Given the description of an element on the screen output the (x, y) to click on. 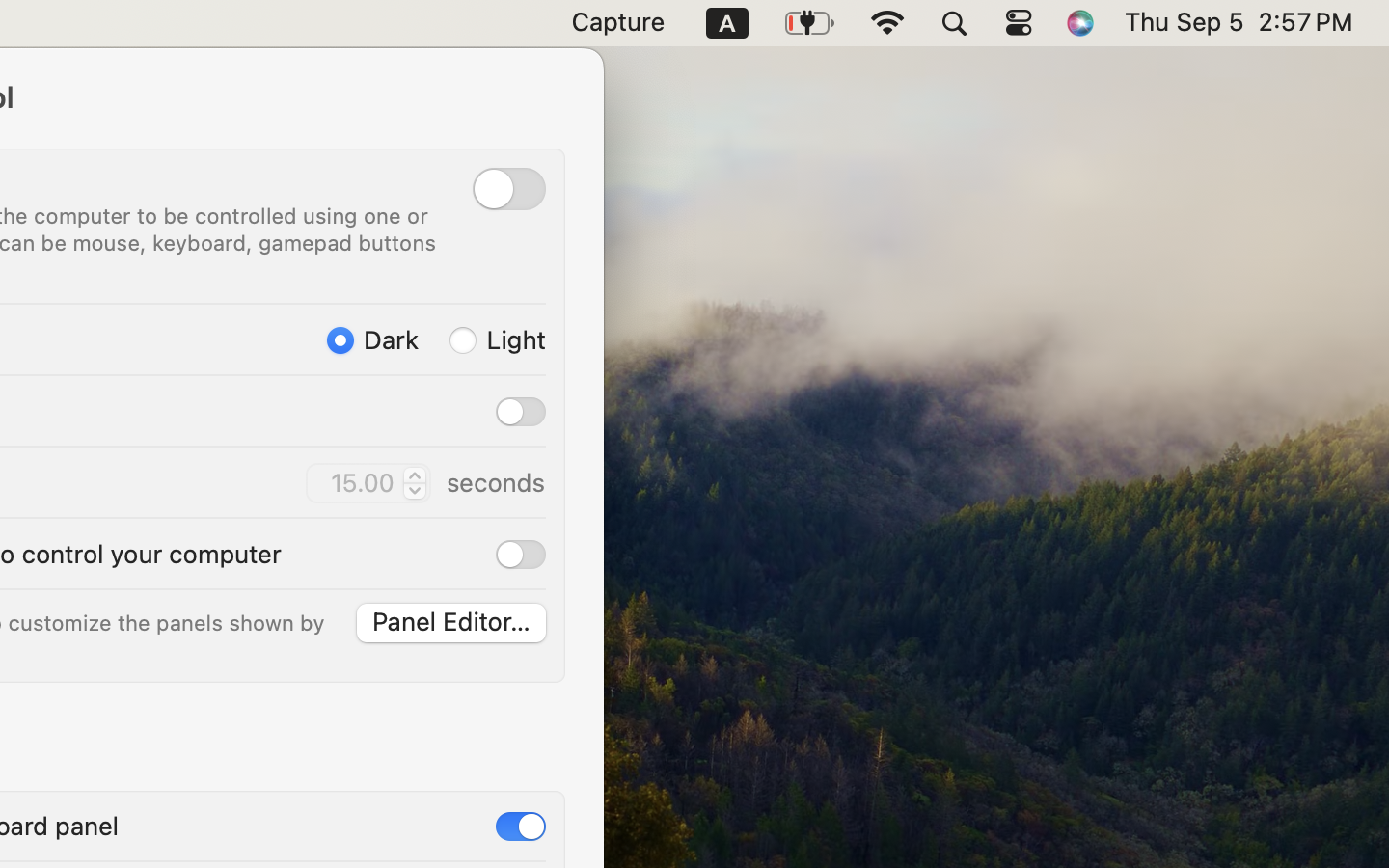
seconds Element type: AXStaticText (494, 481)
